Given the description of an element on the screen output the (x, y) to click on. 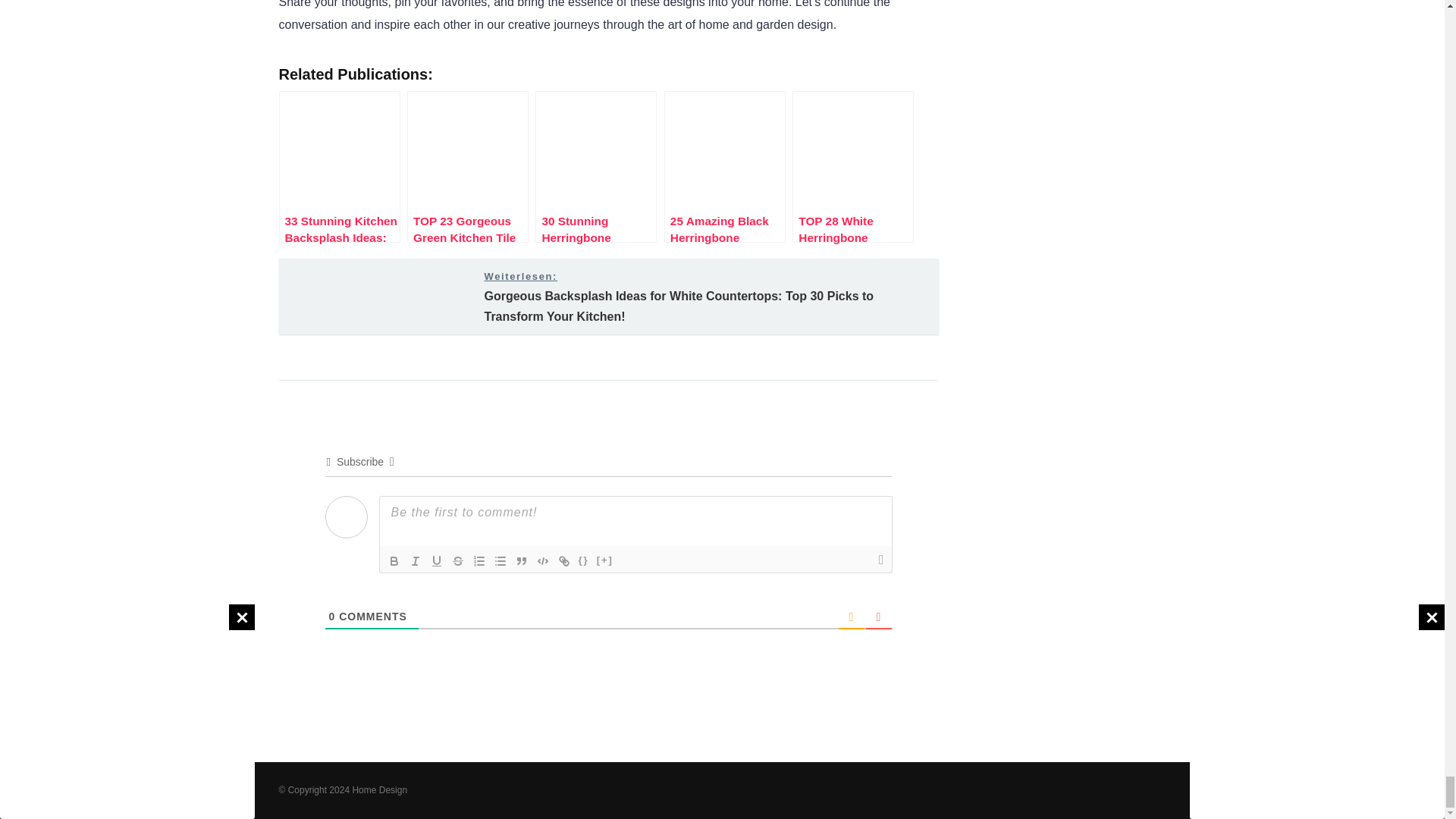
ordered (478, 561)
Strike (457, 561)
Ordered List (478, 561)
bullet (500, 561)
Bold (394, 561)
Unordered List (500, 561)
Underline (436, 561)
Italic (415, 561)
